Given the description of an element on the screen output the (x, y) to click on. 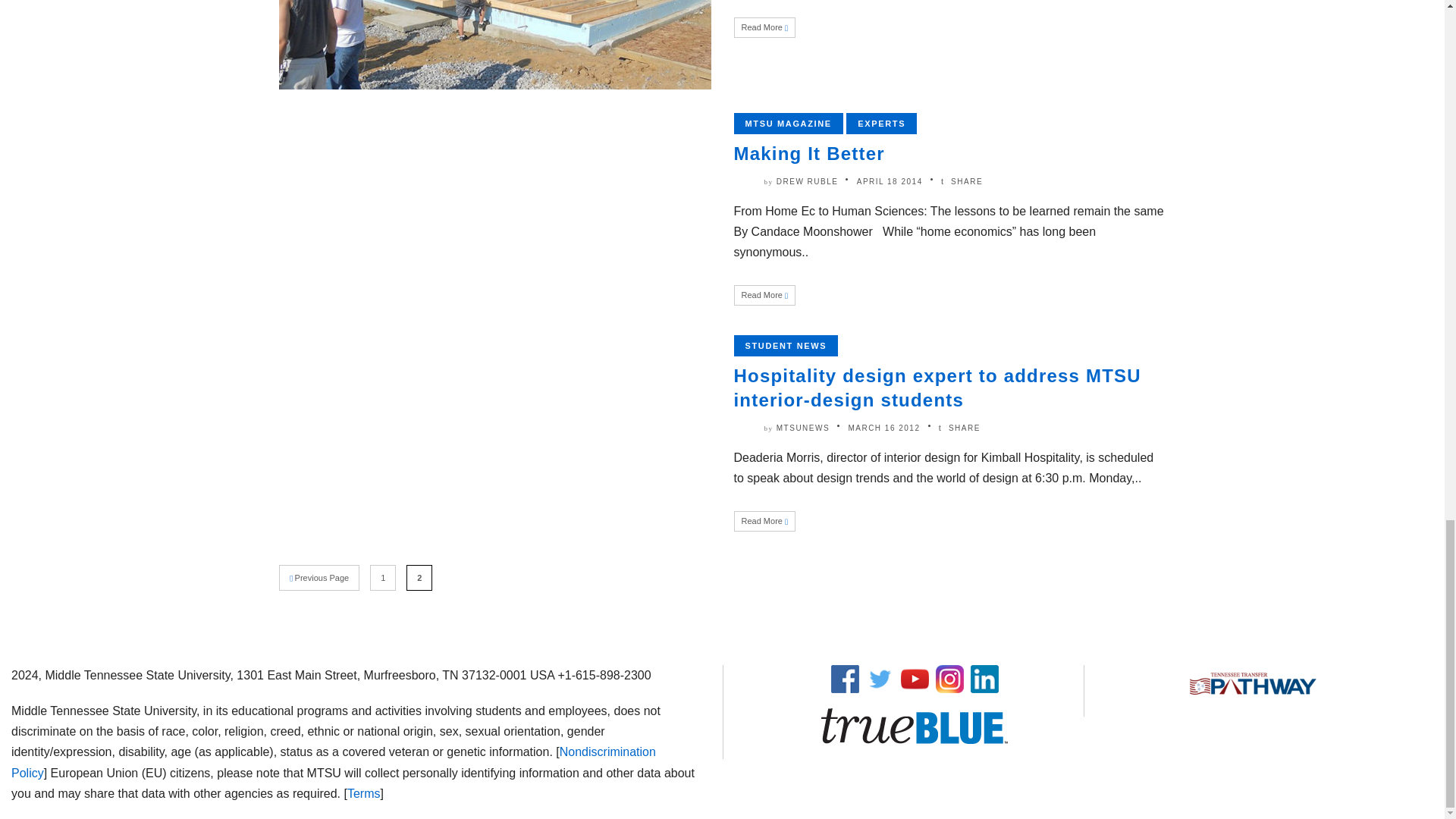
March 16, 2012 11:33 (883, 428)
Posts by mtsunews (802, 428)
April 18, 2014 1:47 (890, 181)
Posts by Drew Ruble (807, 181)
